Given the description of an element on the screen output the (x, y) to click on. 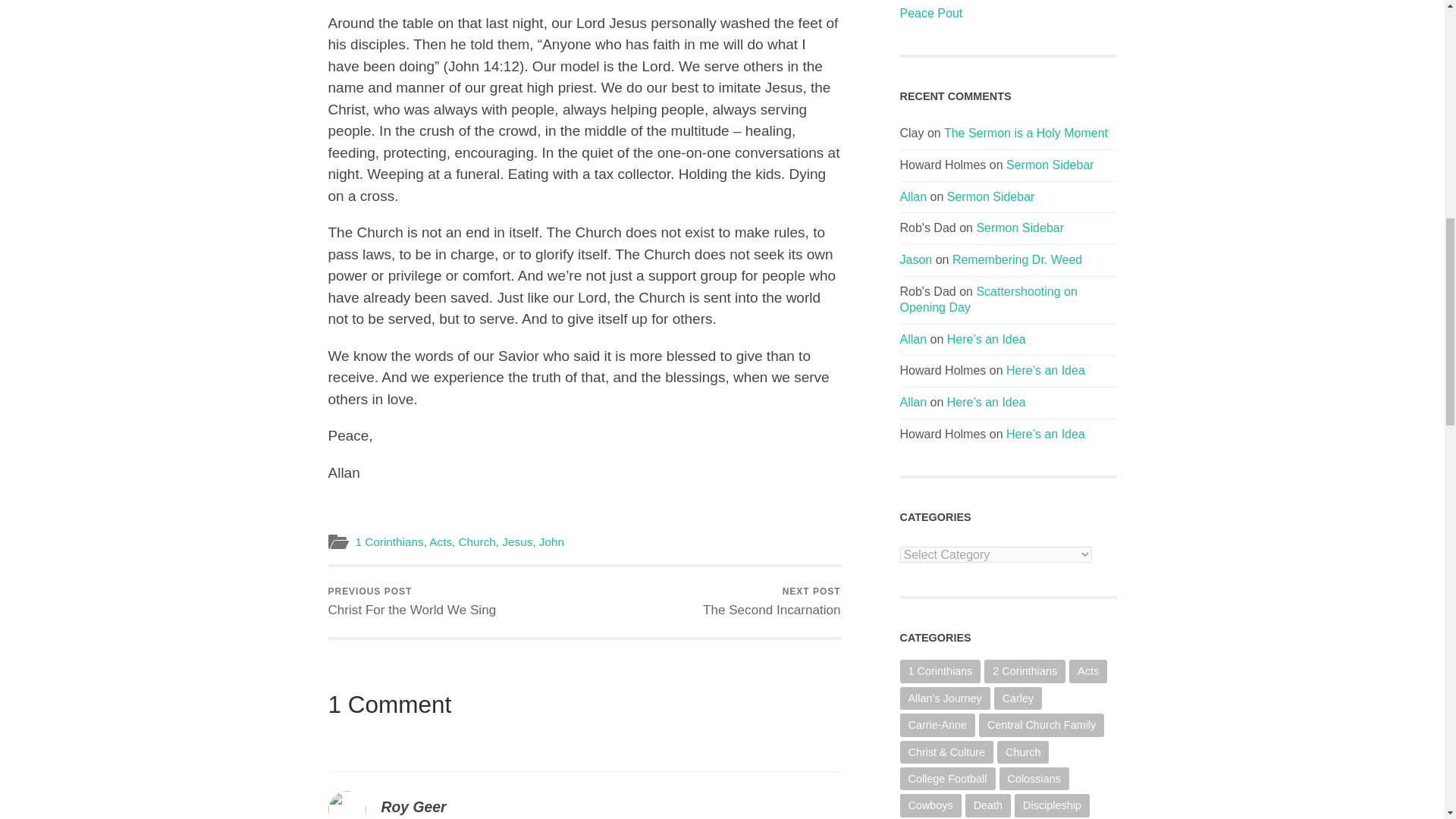
Remembering Dr. Weed (772, 601)
The Sermon is a Holy Moment (1016, 259)
Allan (1025, 132)
Jesus (912, 196)
Acts (517, 541)
1 Corinthians (440, 541)
John (389, 541)
Church (551, 541)
Jason (477, 541)
